Given the description of an element on the screen output the (x, y) to click on. 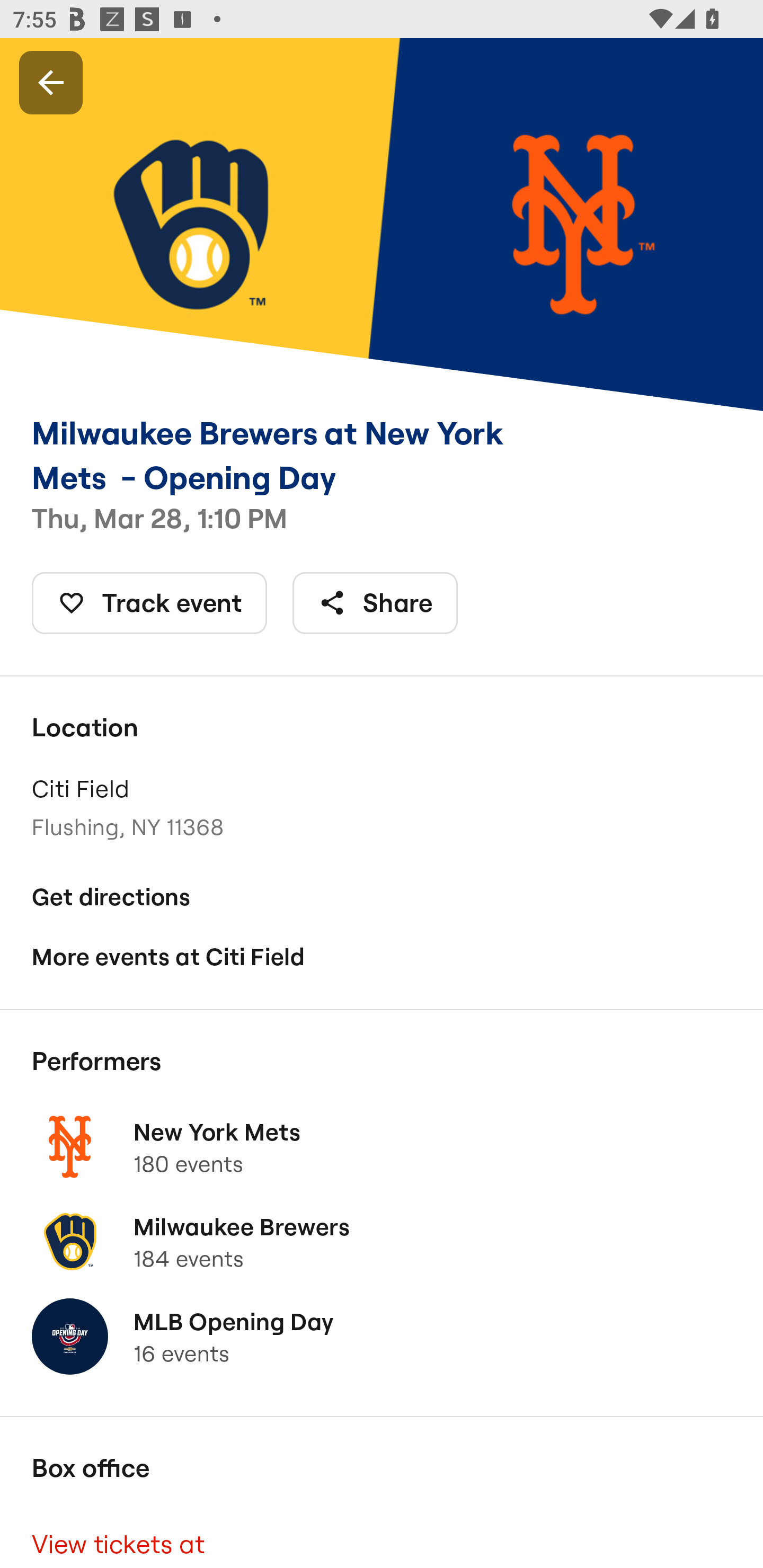
Back (50, 81)
Track event (149, 602)
Share (374, 602)
Get directions (381, 896)
More events at Citi Field (381, 956)
New York Mets 180 events (381, 1146)
Milwaukee Brewers 184 events (381, 1241)
MLB Opening Day 16 events (381, 1336)
View tickets at  (381, 1537)
